Given the description of an element on the screen output the (x, y) to click on. 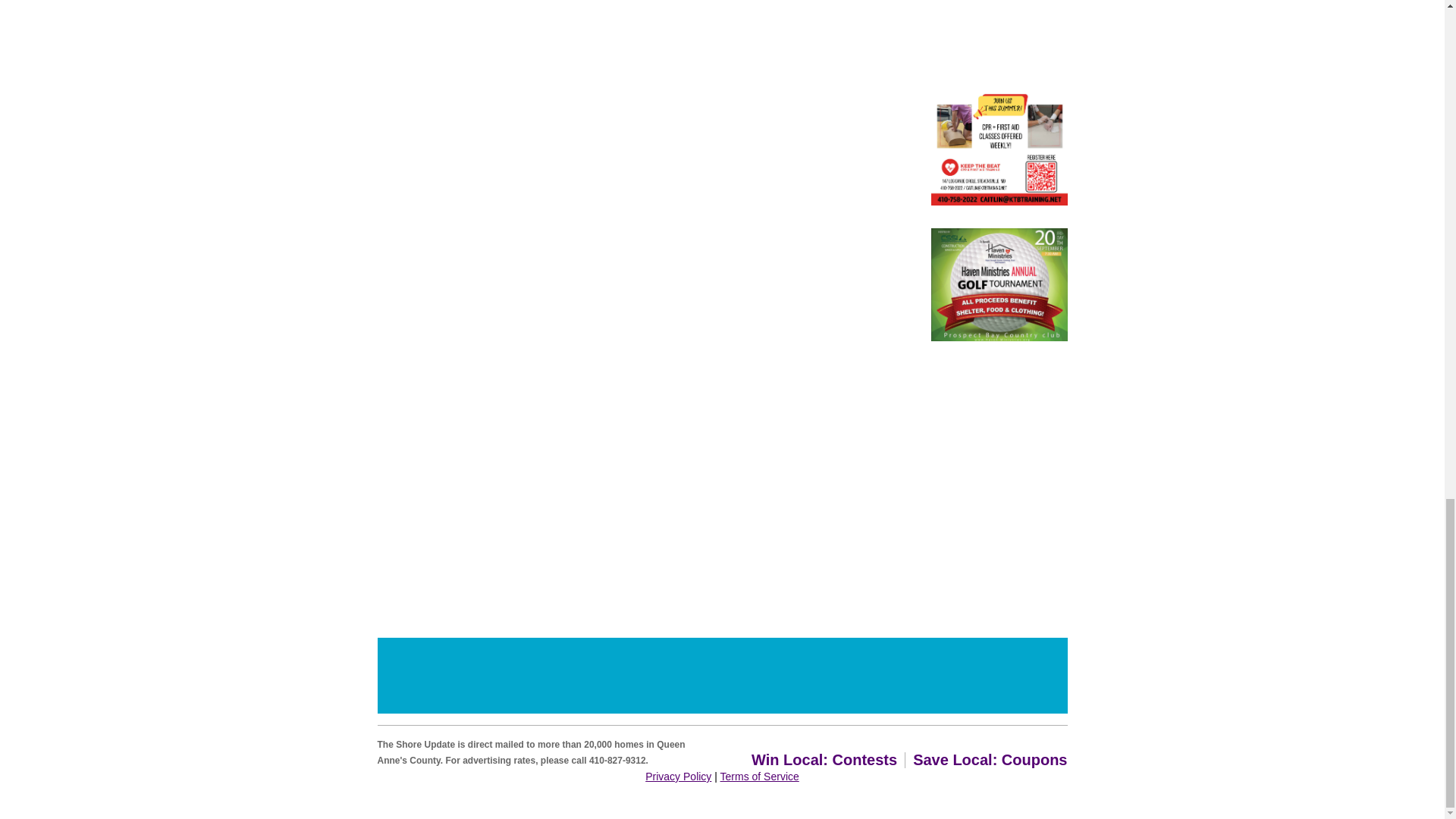
Save Local: Coupons (989, 759)
Win Local: Contests (823, 759)
Privacy Policy (678, 776)
Terms of Service (759, 776)
